Given the description of an element on the screen output the (x, y) to click on. 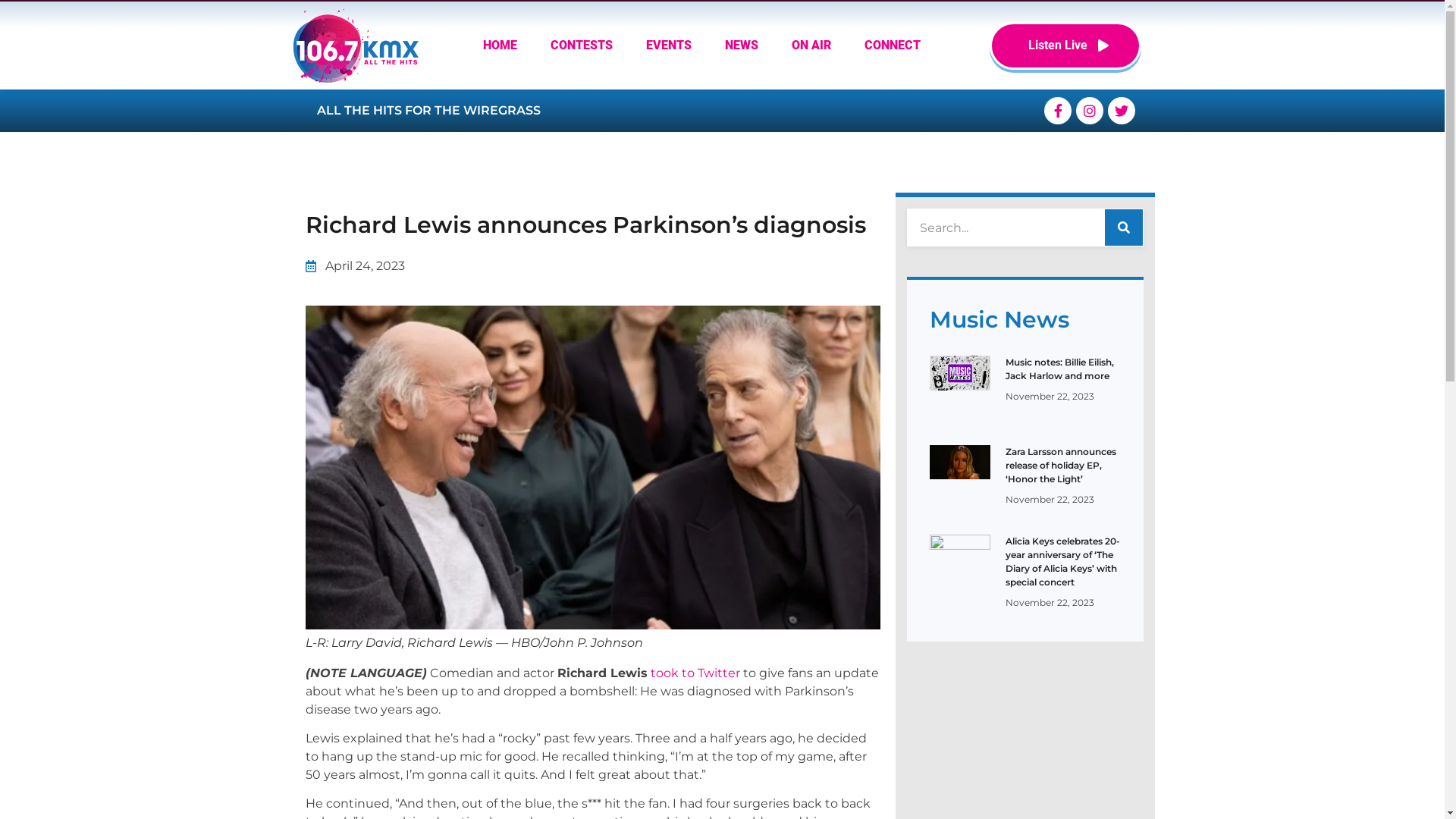
April 24, 2023 Element type: text (354, 266)
CONTESTS Element type: text (581, 45)
HOME Element type: text (500, 45)
EVENTS Element type: text (668, 45)
took to Twitter Element type: text (695, 672)
Listen Live Element type: text (1065, 45)
Music notes: Billie Eilish, Jack Harlow and more Element type: text (1059, 368)
CONNECT Element type: text (892, 45)
NEWS Element type: text (741, 45)
ON AIR Element type: text (811, 45)
